Given the description of an element on the screen output the (x, y) to click on. 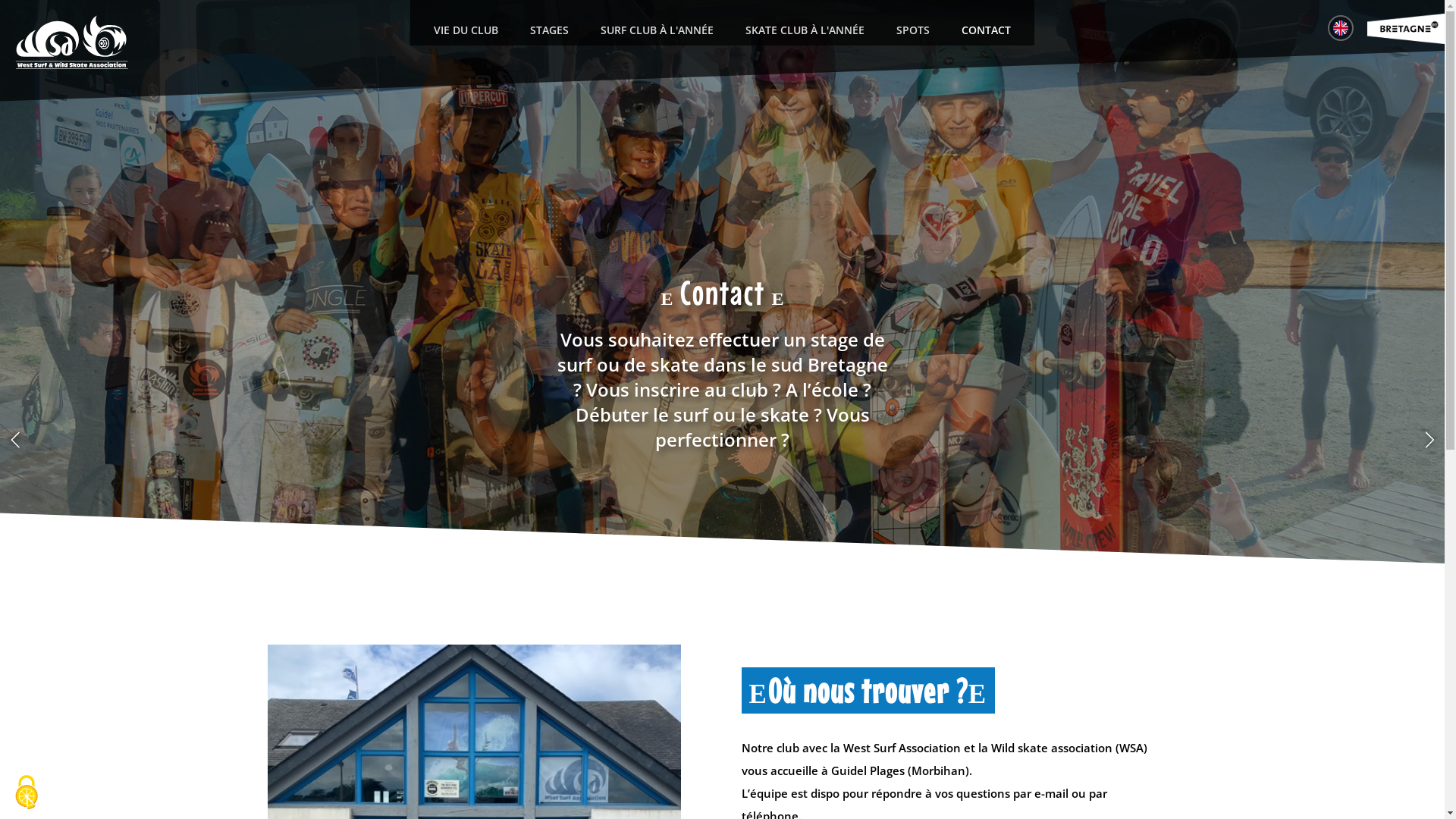
VIE DU CLUB Element type: text (465, 30)
Cookies (modal window) Element type: hover (26, 792)
SPOTS Element type: text (912, 30)
Next Element type: text (1429, 439)
Previous Element type: text (15, 439)
CONTACT Element type: text (985, 30)
